Given the description of an element on the screen output the (x, y) to click on. 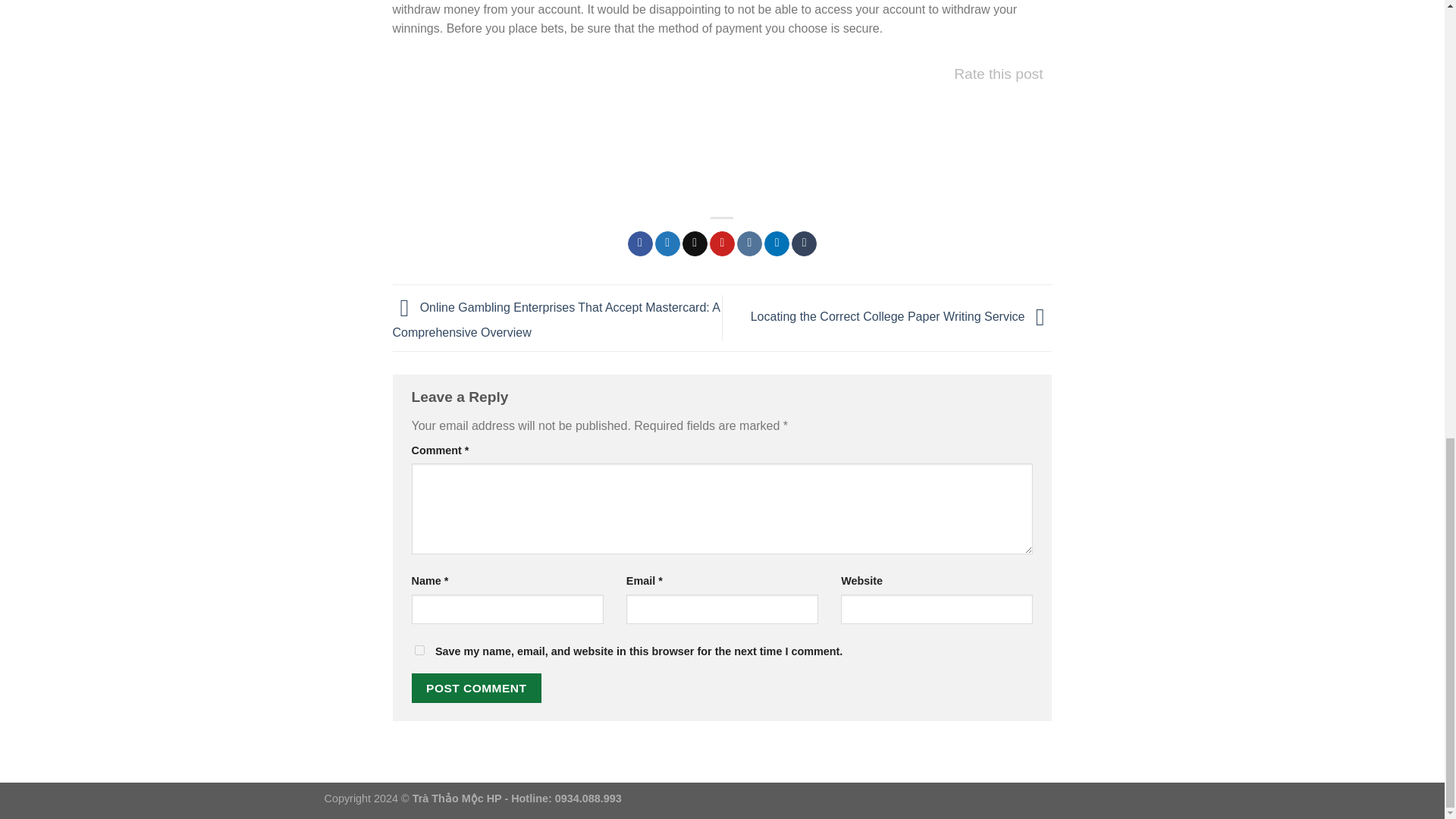
Share on VKontakte (748, 243)
Locating the Correct College Paper Writing Service (901, 317)
yes (418, 650)
Pin on Pinterest (722, 243)
Email to a Friend (694, 243)
Share on Tumblr (804, 243)
Share on LinkedIn (776, 243)
Share on Twitter (667, 243)
Post Comment (475, 687)
